Given the description of an element on the screen output the (x, y) to click on. 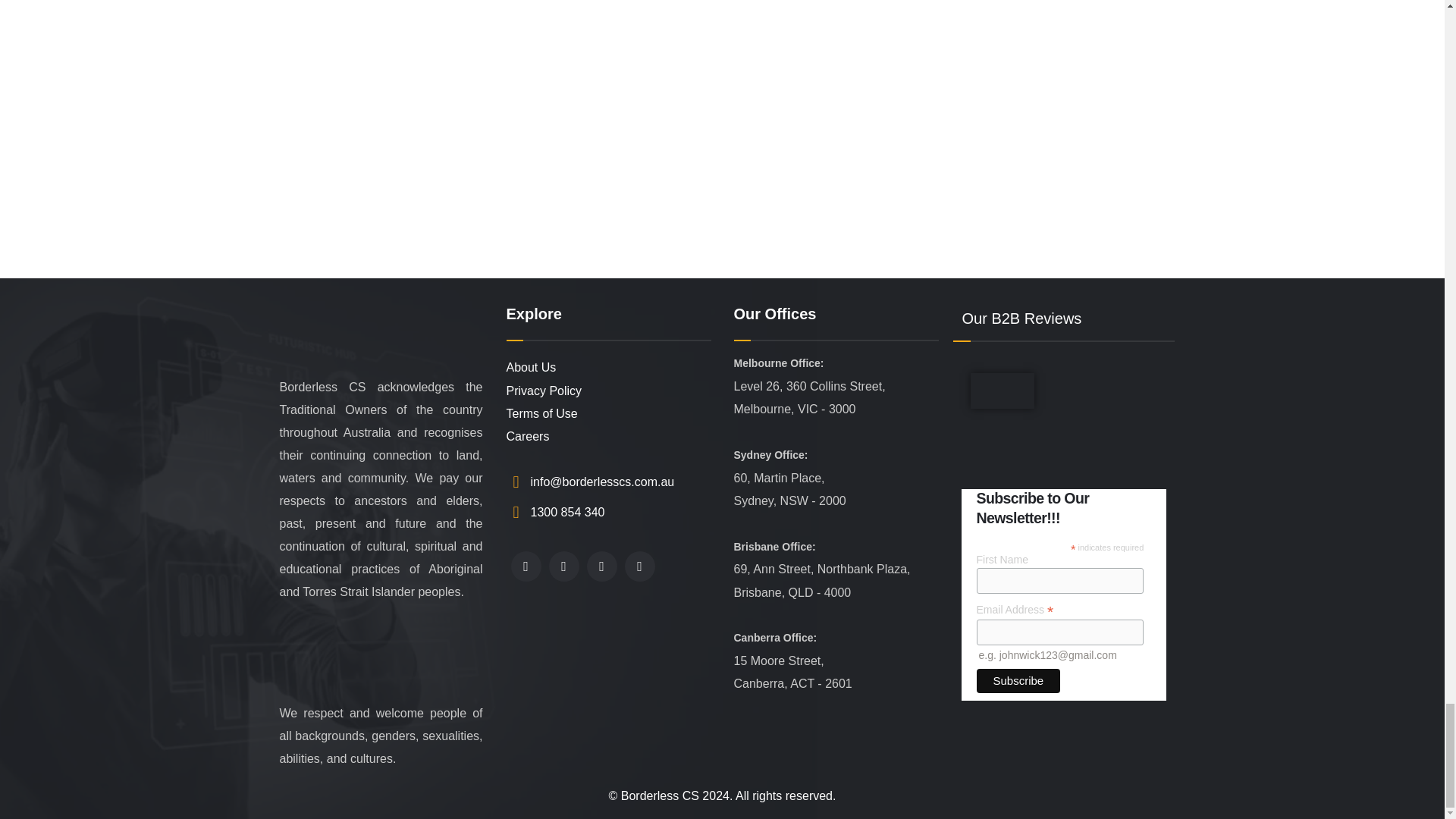
Subscribe (1018, 680)
